Given the description of an element on the screen output the (x, y) to click on. 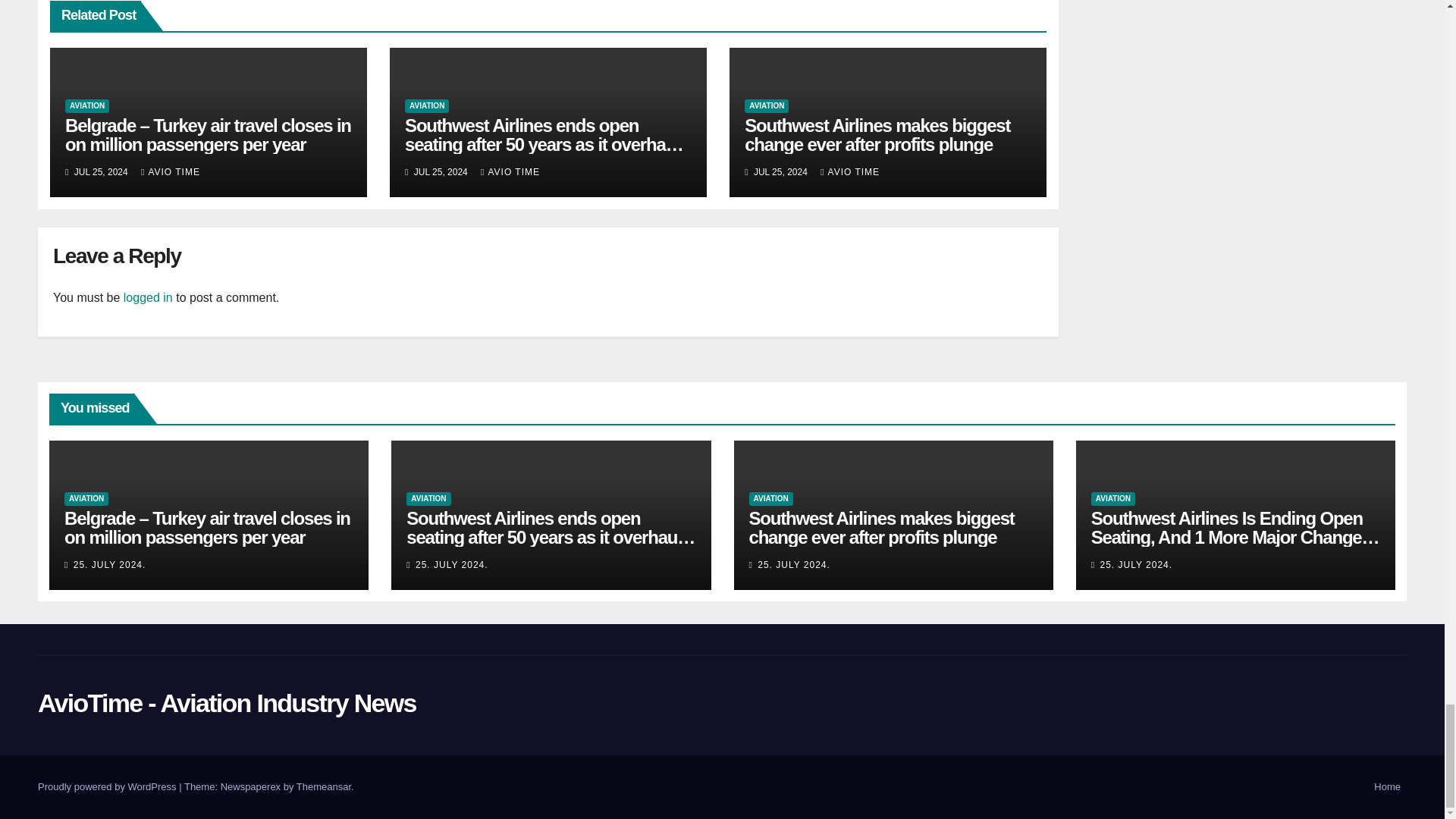
AVIO TIME (850, 172)
AVIATION (426, 106)
AVIO TIME (510, 172)
Home (1387, 786)
AVIATION (766, 106)
AVIATION (87, 106)
AVIO TIME (170, 172)
